Given the description of an element on the screen output the (x, y) to click on. 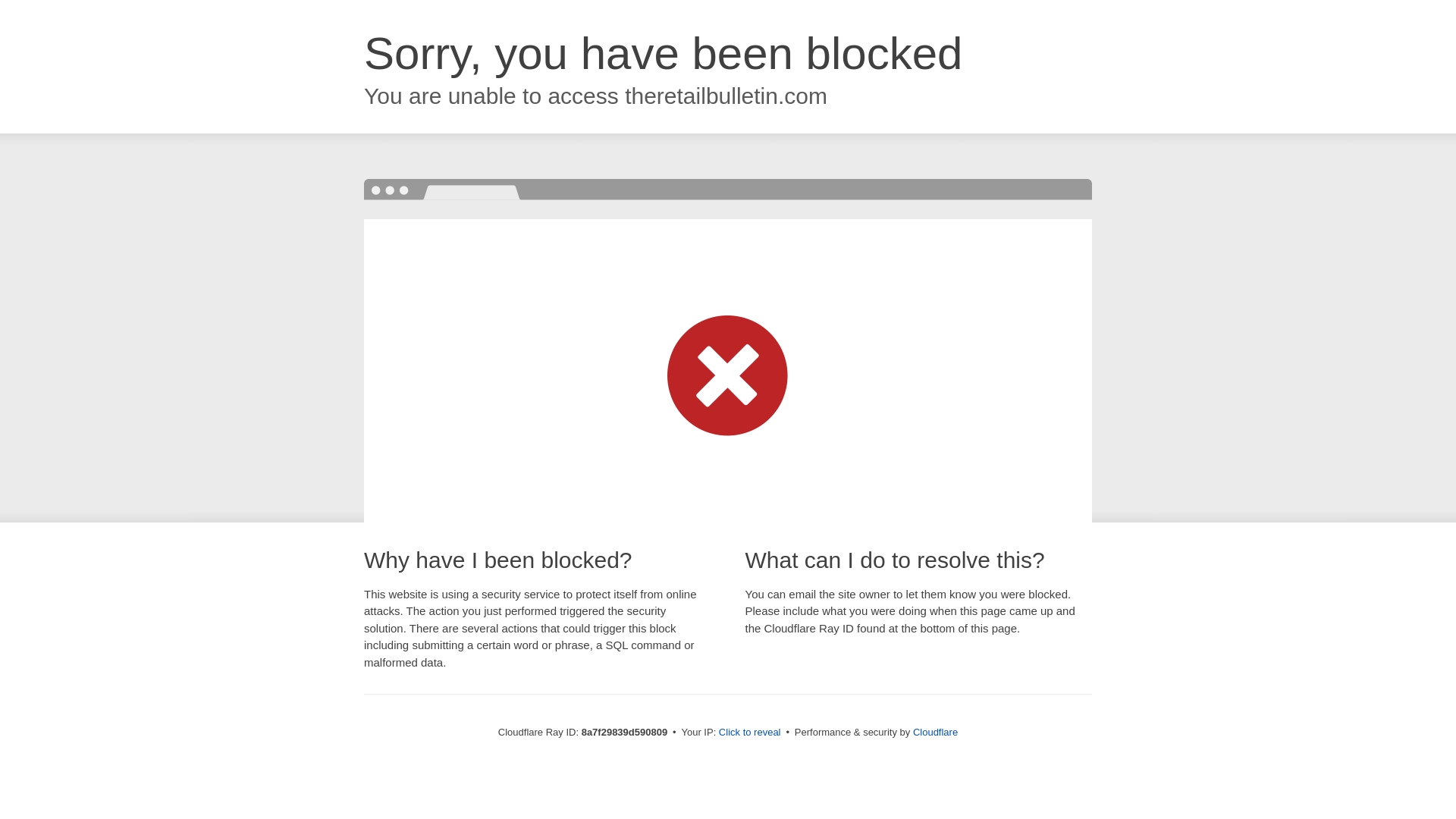
Cloudflare (935, 731)
Click to reveal (749, 732)
